Given the description of an element on the screen output the (x, y) to click on. 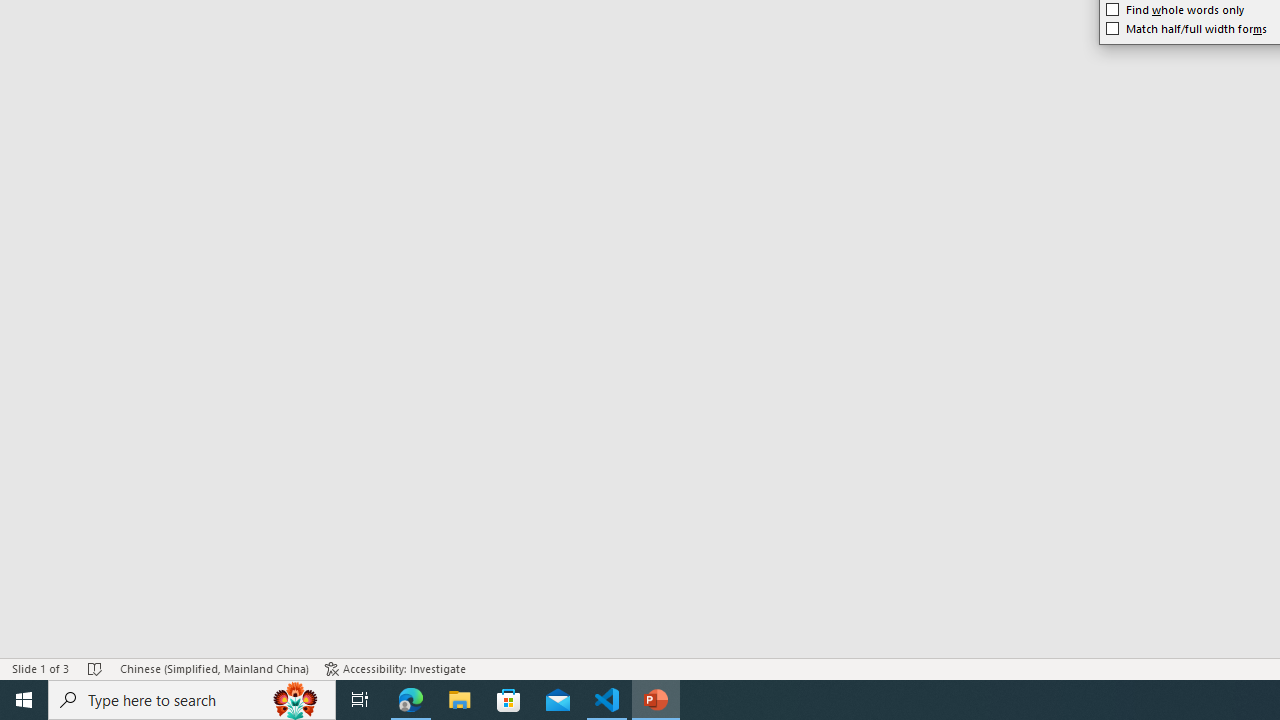
Microsoft Edge - 1 running window (411, 699)
Match half/full width forms (1186, 28)
Find whole words only (1175, 10)
